Given the description of an element on the screen output the (x, y) to click on. 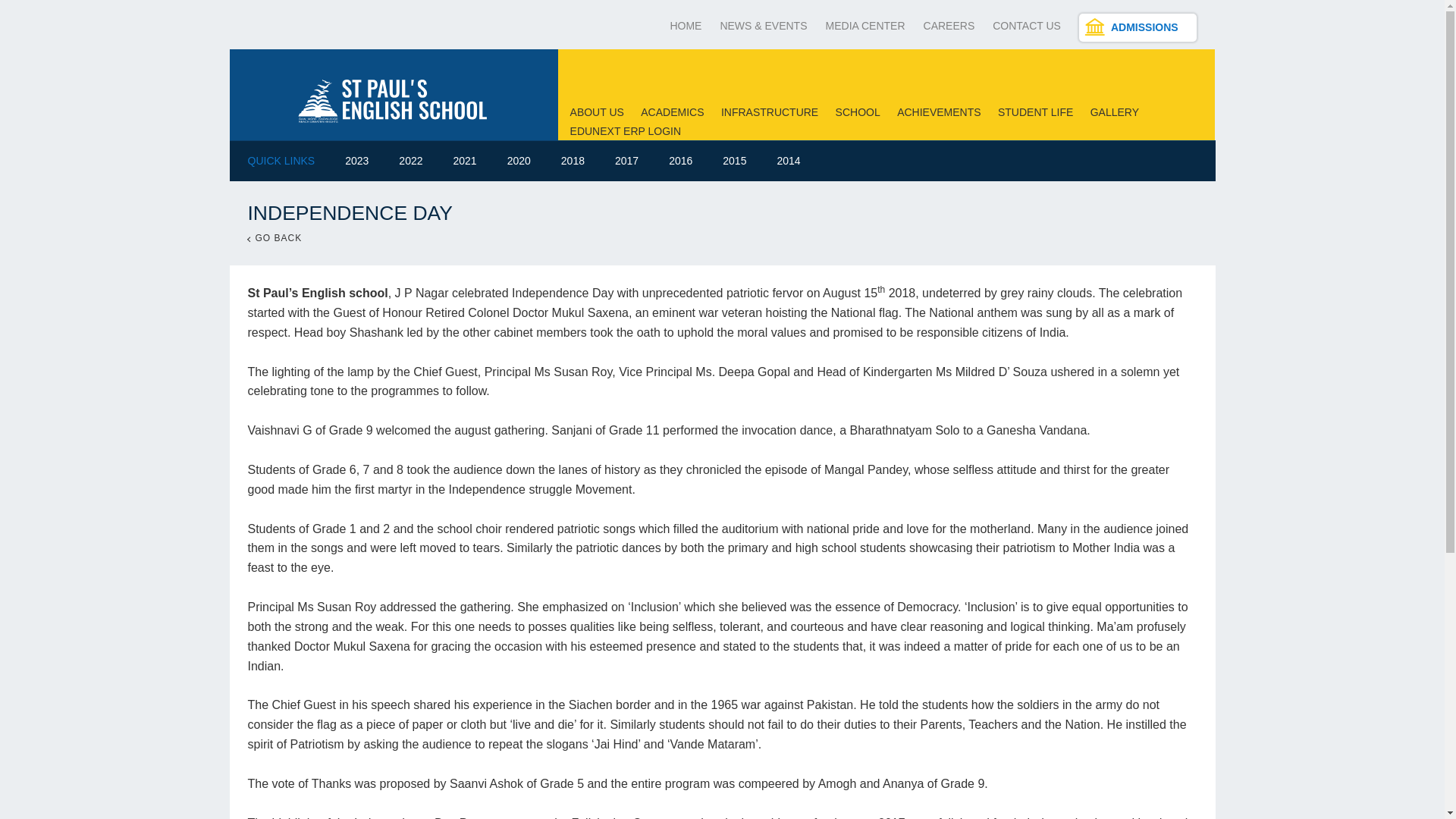
CAREERS (949, 26)
MEDIA CENTER (865, 26)
GALLERY (1114, 112)
HOME (685, 26)
SCHOOL (857, 112)
CONTACT US (1026, 26)
INFRASTRUCTURE (769, 112)
ADMISSIONS (1137, 27)
ACADEMICS (671, 112)
STUDENT LIFE (1035, 112)
